Given the description of an element on the screen output the (x, y) to click on. 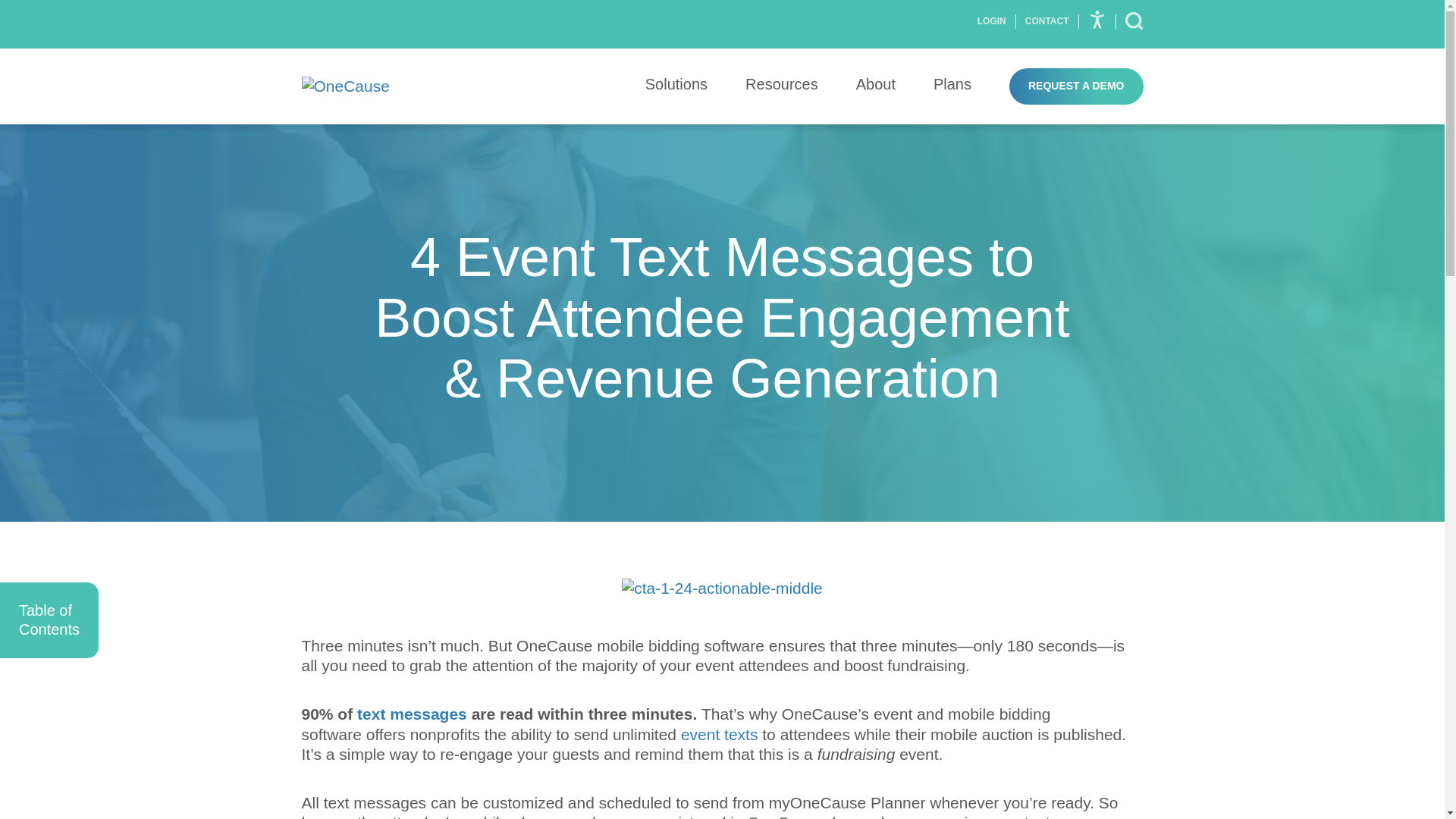
Toggle Search (1133, 21)
Resources (781, 86)
CONTACT (1047, 20)
LOGIN (996, 20)
